Given the description of an element on the screen output the (x, y) to click on. 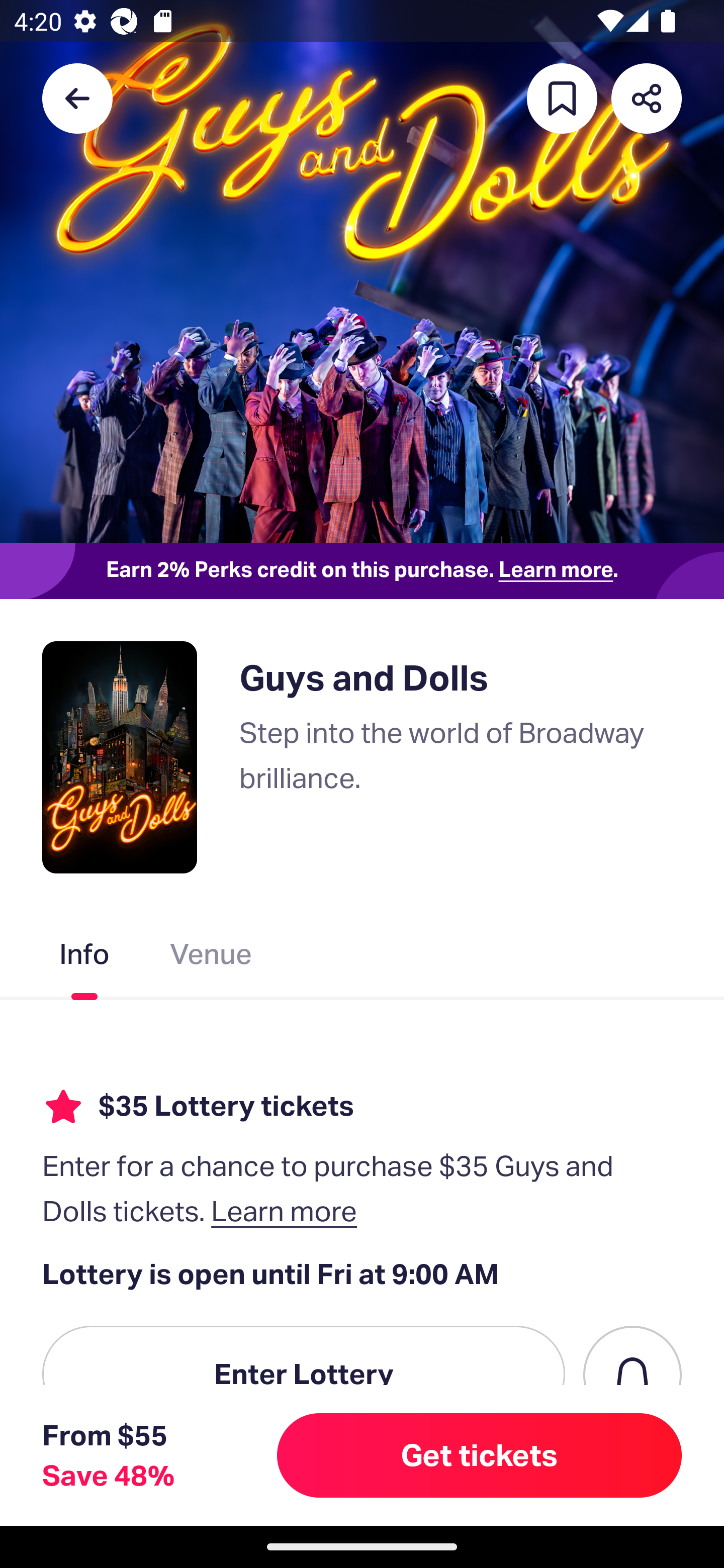
Earn 2% Perks credit on this purchase. Learn more. (362, 570)
Venue (210, 957)
Enter Lottery (303, 1374)
Get tickets (479, 1454)
